Given the description of an element on the screen output the (x, y) to click on. 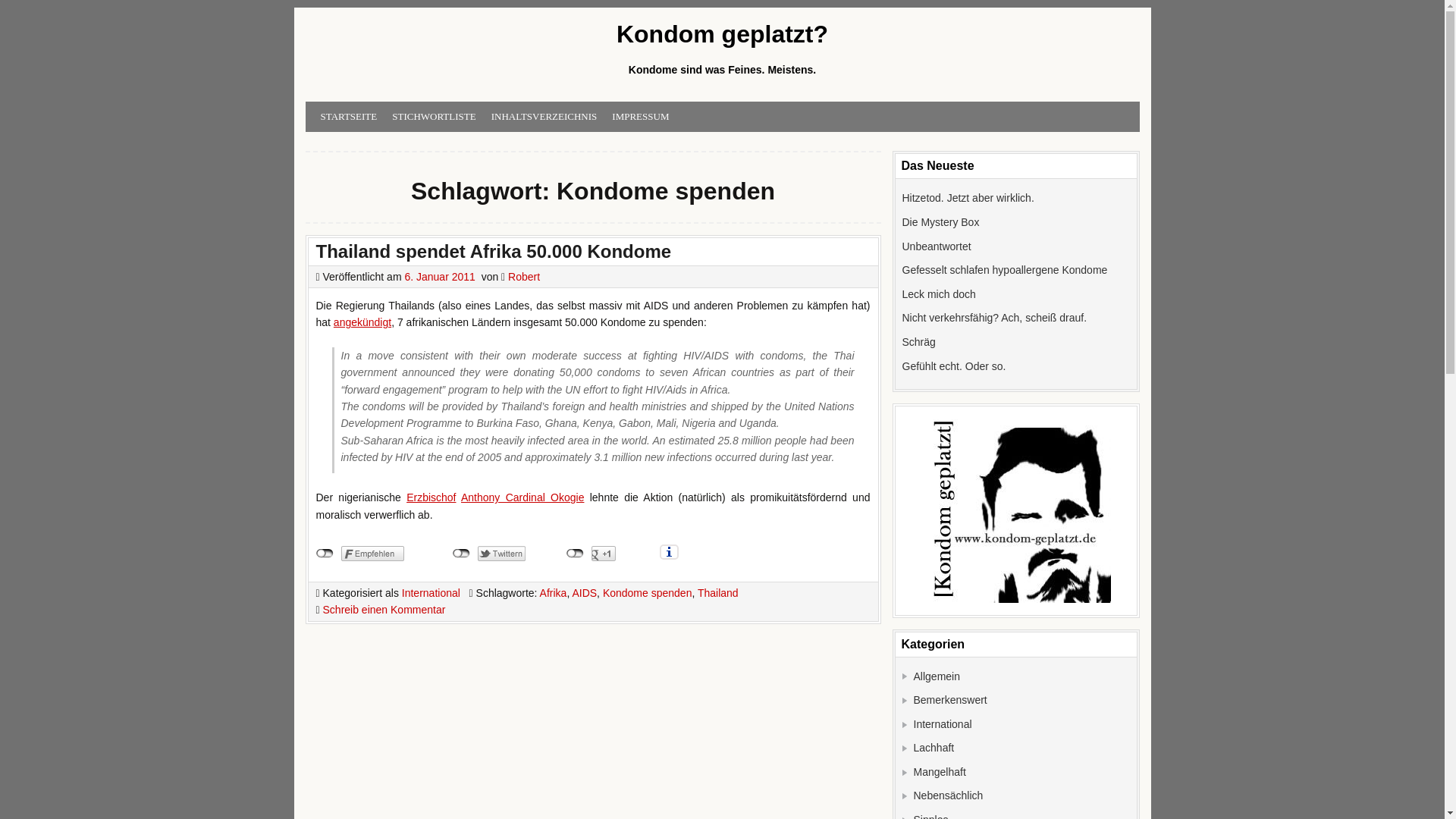
AIDS (584, 592)
Hitzetod. Jetzt aber wirklich. (967, 197)
IMPRESSUM (640, 116)
Allgemein (935, 676)
Robert (524, 276)
Leck mich doch (938, 294)
Mangelhaft (938, 771)
Thailand spendet Afrika 50.000 Kondome (493, 250)
Bemerkenswert (949, 699)
Gefesselt schlafen hypoallergene Kondome (1005, 269)
STICHWORTLISTE (433, 116)
Kondome spenden (647, 592)
Kondom geplatzt? (721, 34)
INHALTSVERZEICHNIS (544, 116)
